Given the description of an element on the screen output the (x, y) to click on. 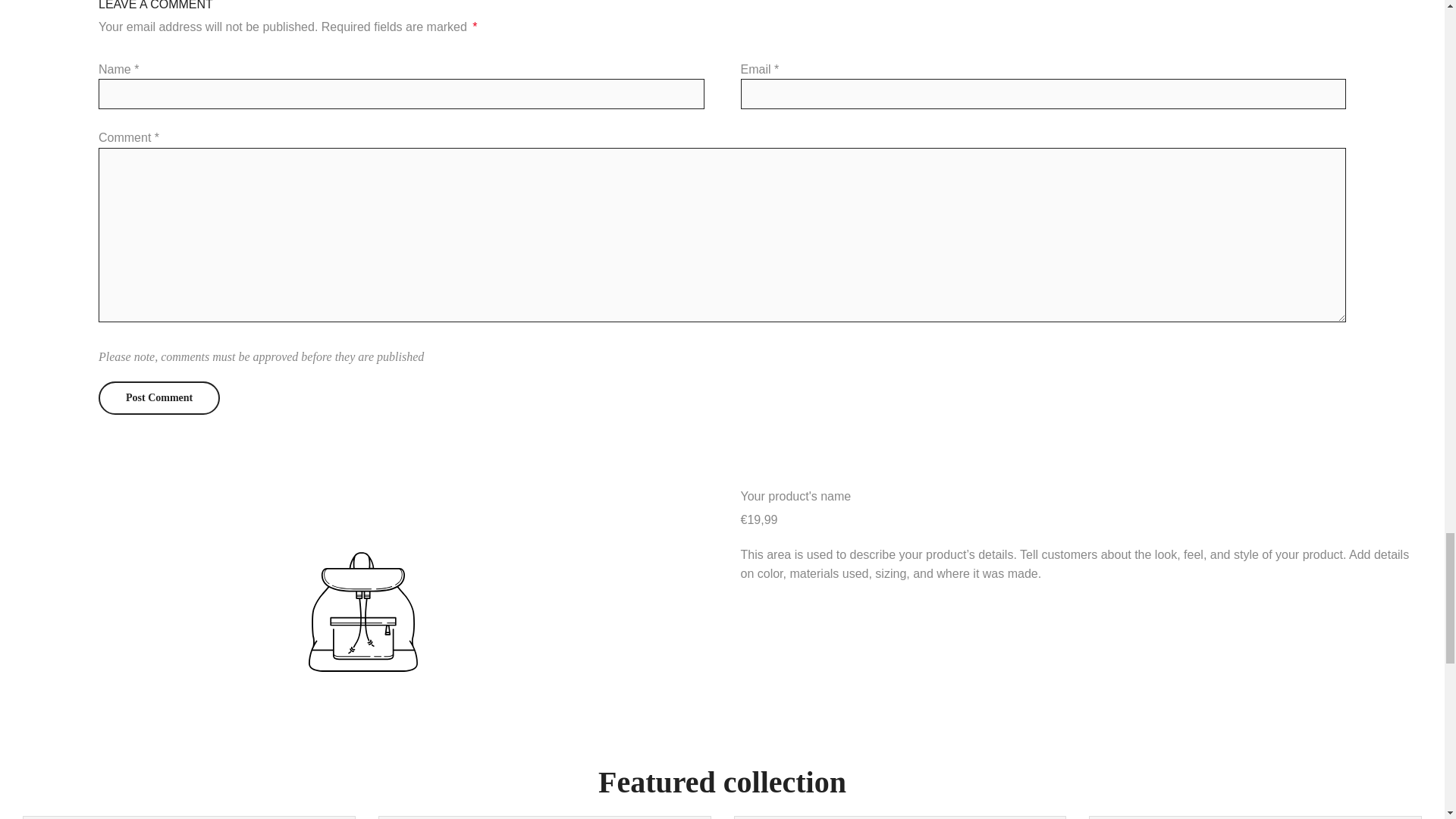
Post Comment (159, 397)
